Given the description of an element on the screen output the (x, y) to click on. 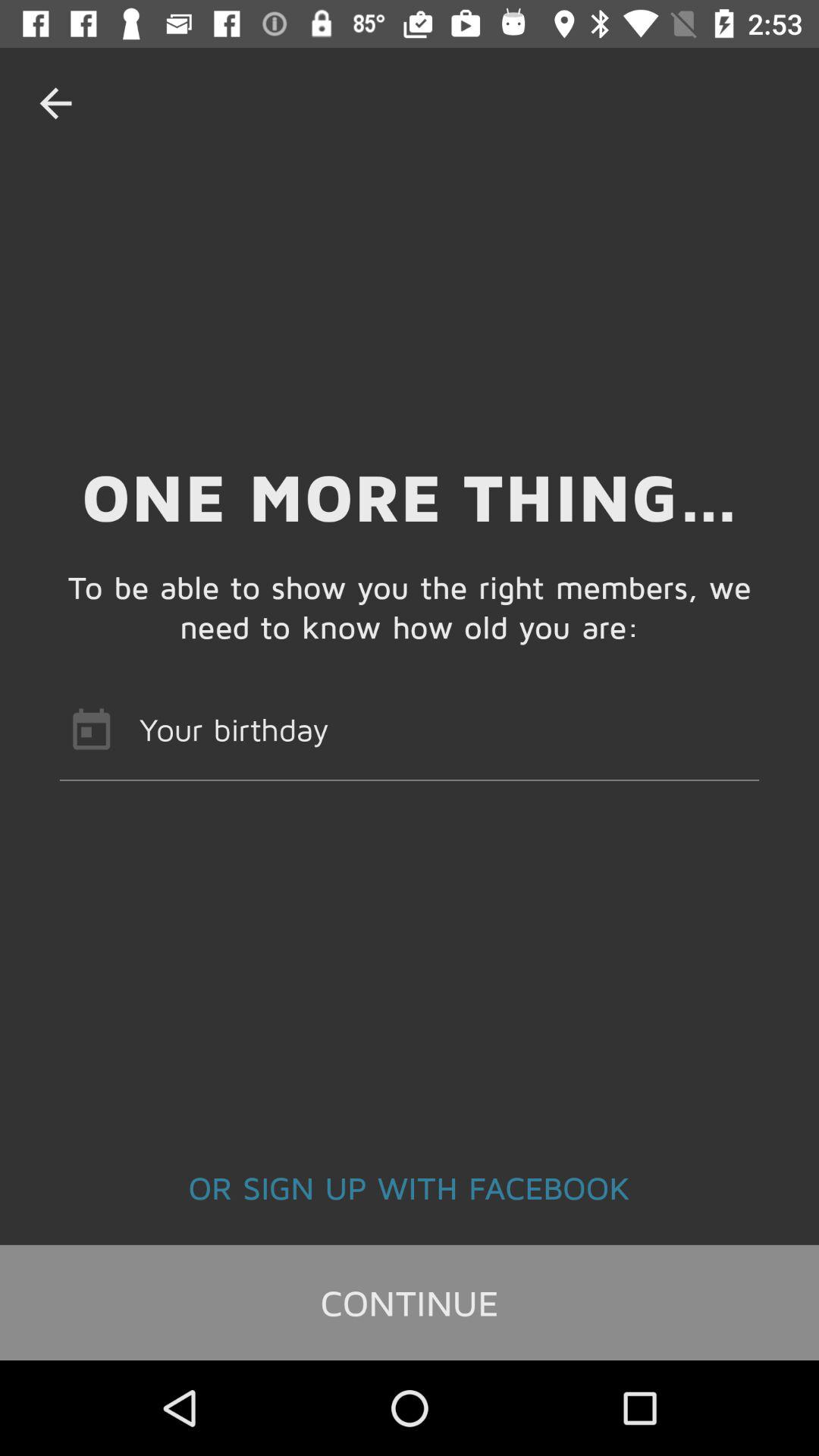
scroll to the continue item (409, 1302)
